Given the description of an element on the screen output the (x, y) to click on. 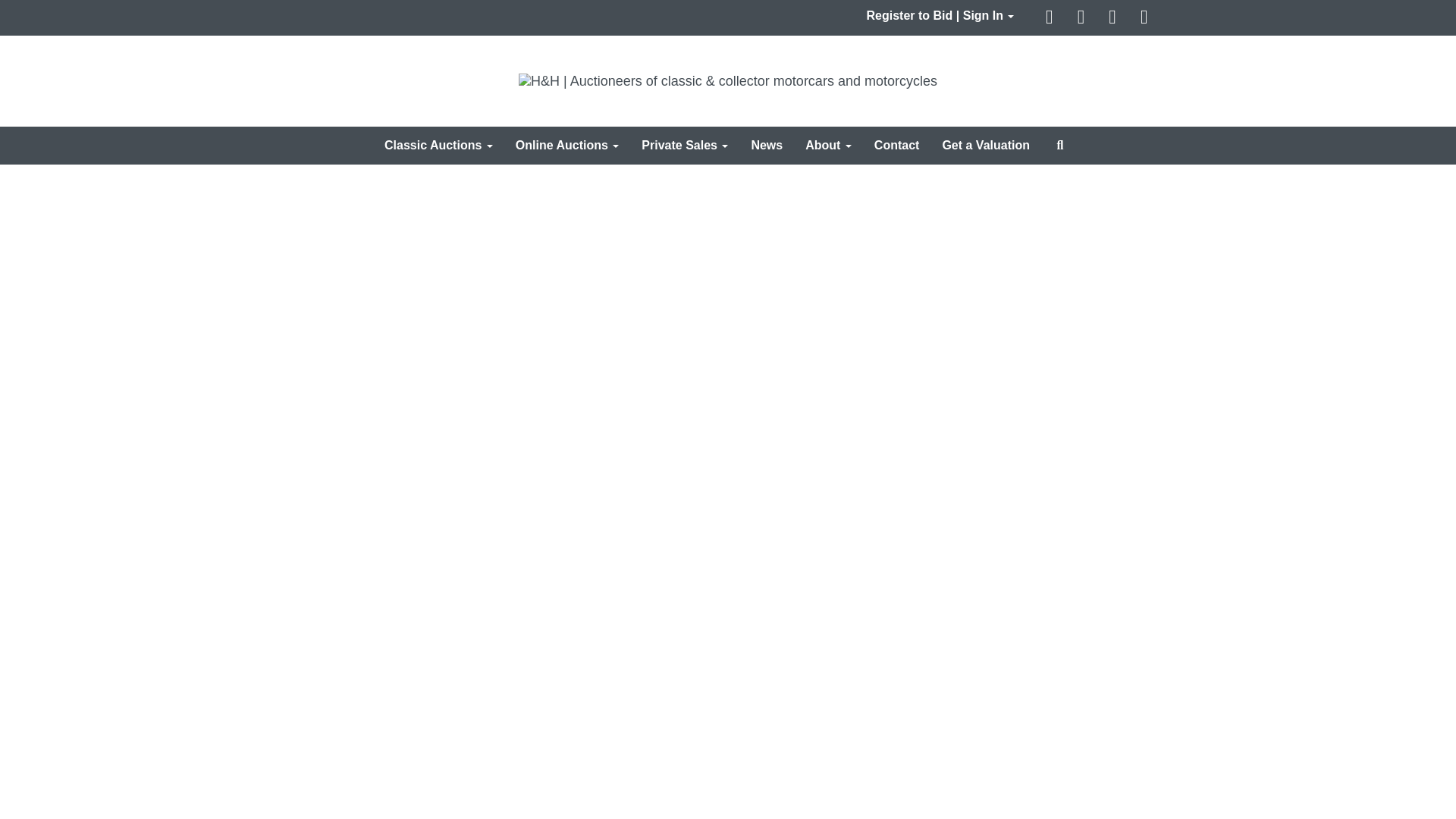
Go to our page on X (1082, 19)
Go to our instagram page (1145, 19)
Go to our facebook page (1050, 19)
Go to our youtube page (1114, 19)
